Given the description of an element on the screen output the (x, y) to click on. 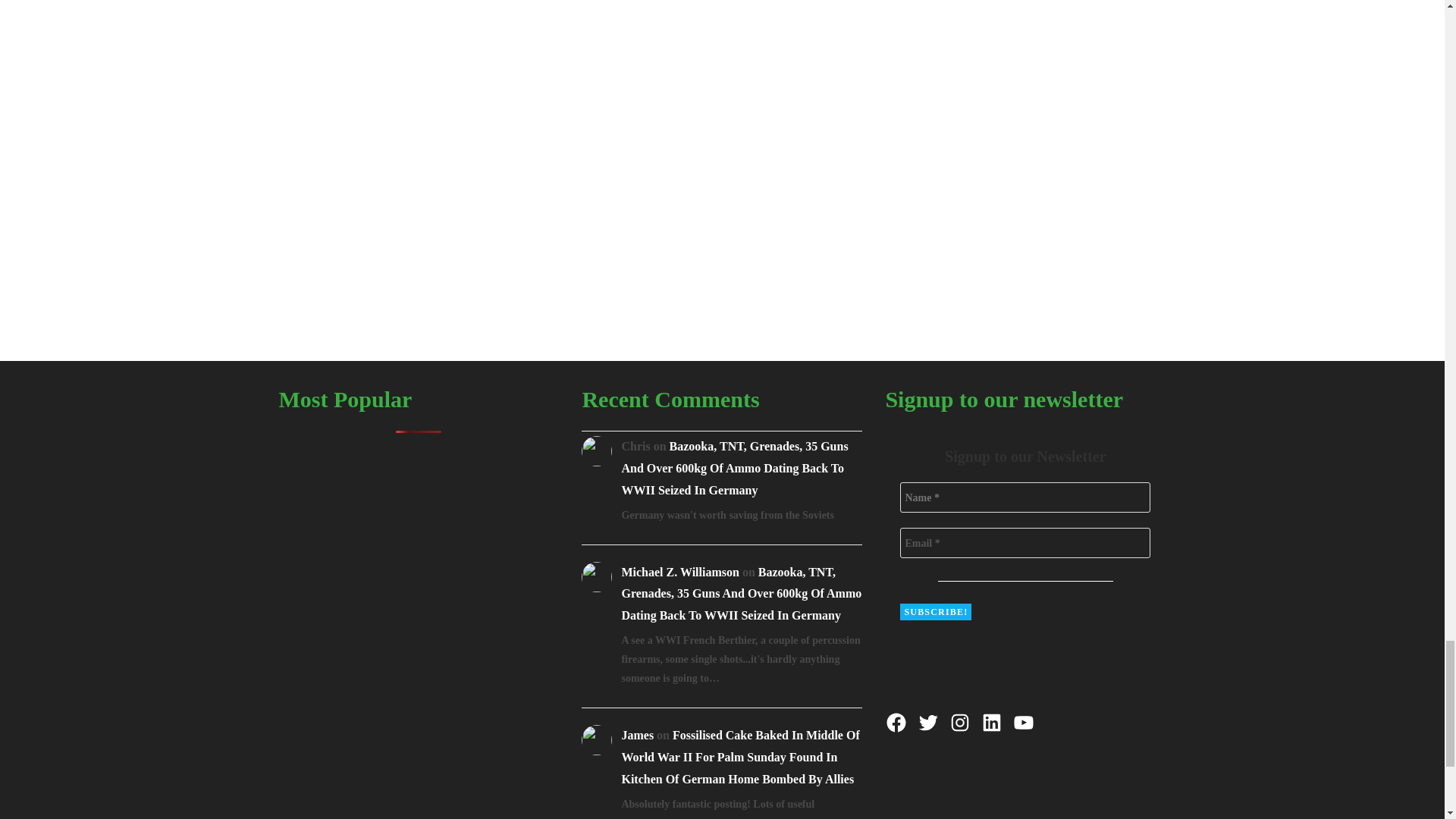
Email (1024, 542)
Name (1024, 497)
Subscribe! (935, 611)
